Given the description of an element on the screen output the (x, y) to click on. 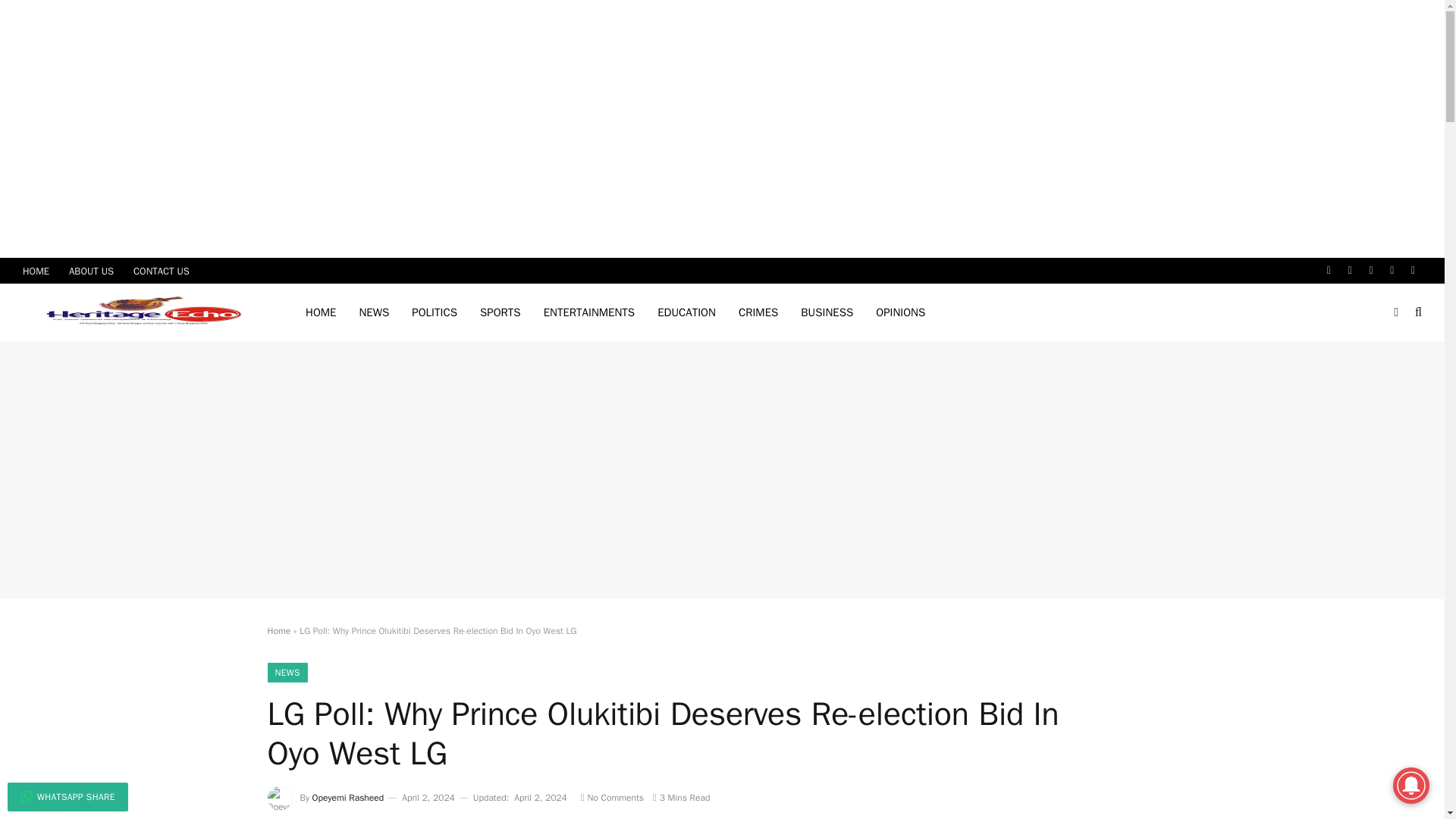
POLITICS (434, 312)
HOME (320, 312)
NEWS (373, 312)
OPINIONS (900, 312)
EDUCATION (686, 312)
SPORTS (500, 312)
ABOUT US (91, 270)
ENTERTAINMENTS (589, 312)
